Given the description of an element on the screen output the (x, y) to click on. 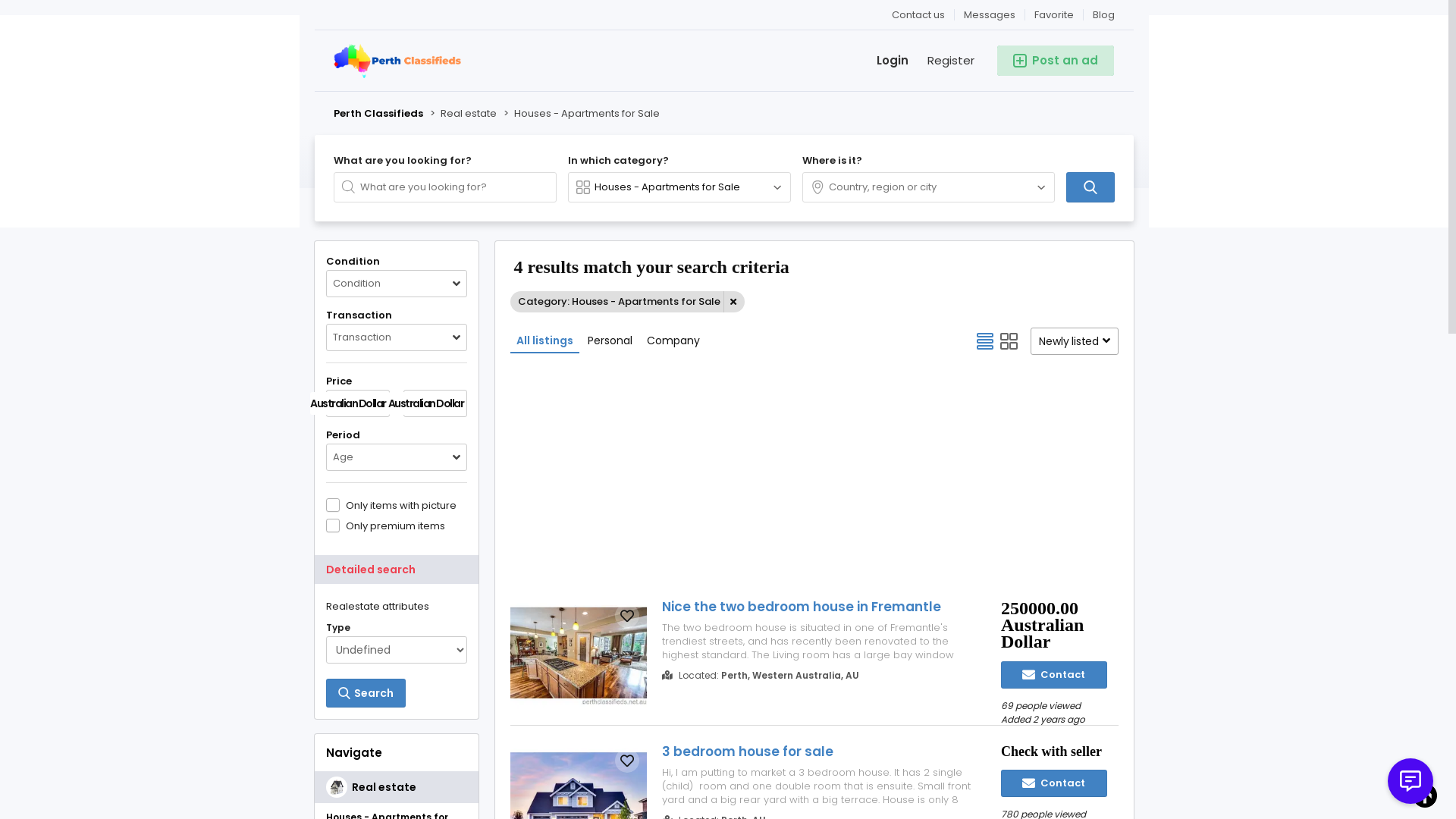
Search Element type: text (365, 692)
Personal Element type: text (609, 340)
Advertisement Element type: hover (1298, 121)
Real estate Element type: text (466, 113)
Contact Element type: text (1054, 674)
Perth Classifieds Element type: text (378, 113)
All listings Element type: text (544, 340)
Real estate Element type: text (396, 787)
Advertisement Element type: hover (814, 474)
Messages Element type: text (989, 14)
Blog Element type: text (1098, 14)
Contact us Element type: text (918, 14)
Post an ad Element type: text (1055, 60)
Contact Element type: text (1054, 783)
Save to favorite Element type: hover (627, 615)
Save to favorite Element type: hover (627, 760)
Login Element type: text (882, 60)
Category: Houses - Apartments for Sale Element type: text (627, 301)
Grid view Element type: hover (1009, 340)
3 bedroom house for sale Element type: text (818, 751)
List view Element type: hover (984, 340)
Register Element type: text (941, 60)
Advertisement Element type: hover (149, 121)
Nice the two bedroom house in Fremantle Element type: text (818, 606)
Company Element type: text (673, 340)
Favorite Element type: text (1054, 14)
